Given the description of an element on the screen output the (x, y) to click on. 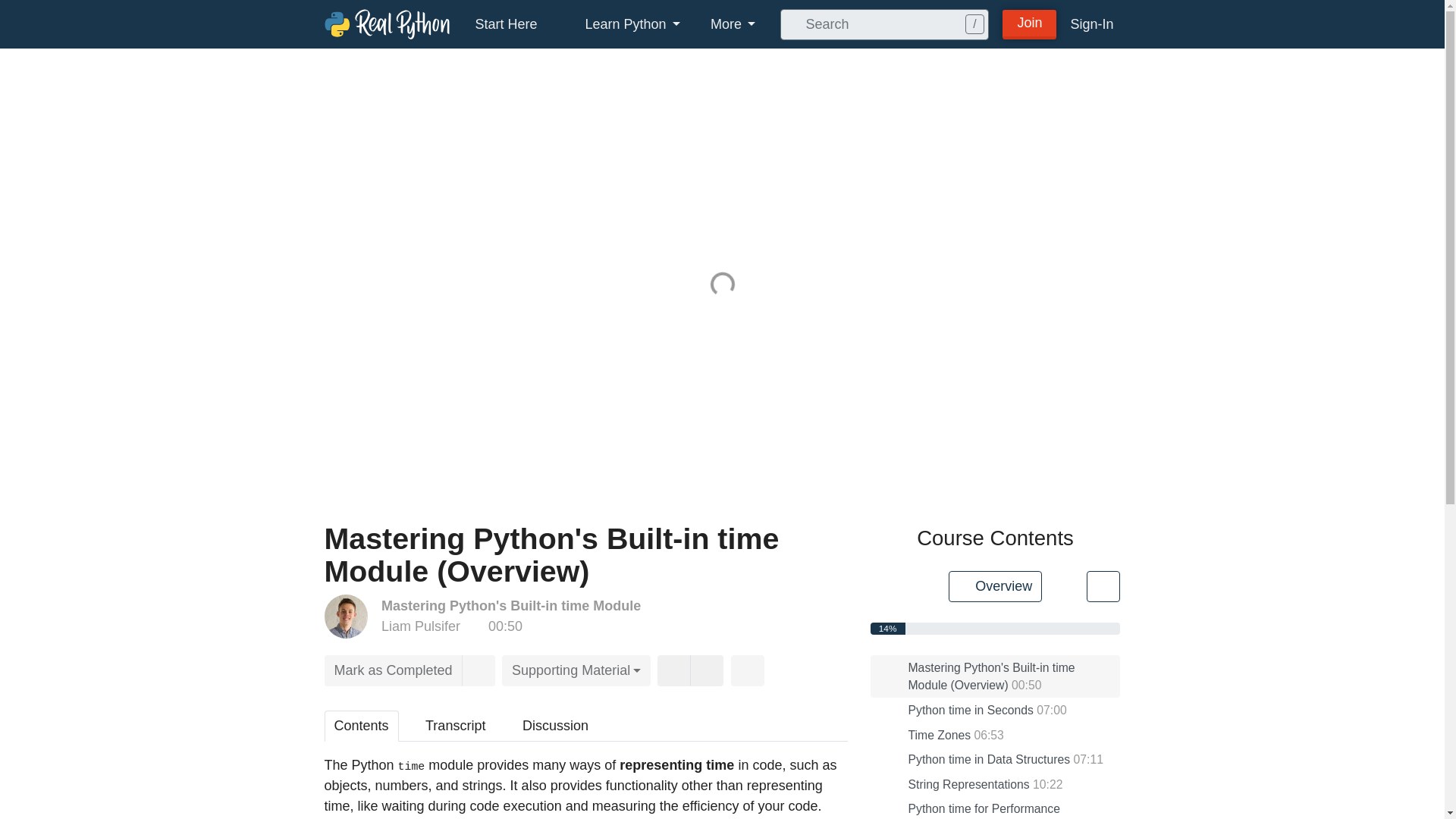
Liam Pulsifer (420, 626)
Supporting Material (576, 670)
Disliked it (706, 670)
More (732, 23)
Start Here (505, 23)
Learn Python (624, 23)
Join (1030, 23)
Mark as Completed (393, 670)
Liked it (674, 670)
Mastering Python's Built-in time Module (510, 605)
